Given the description of an element on the screen output the (x, y) to click on. 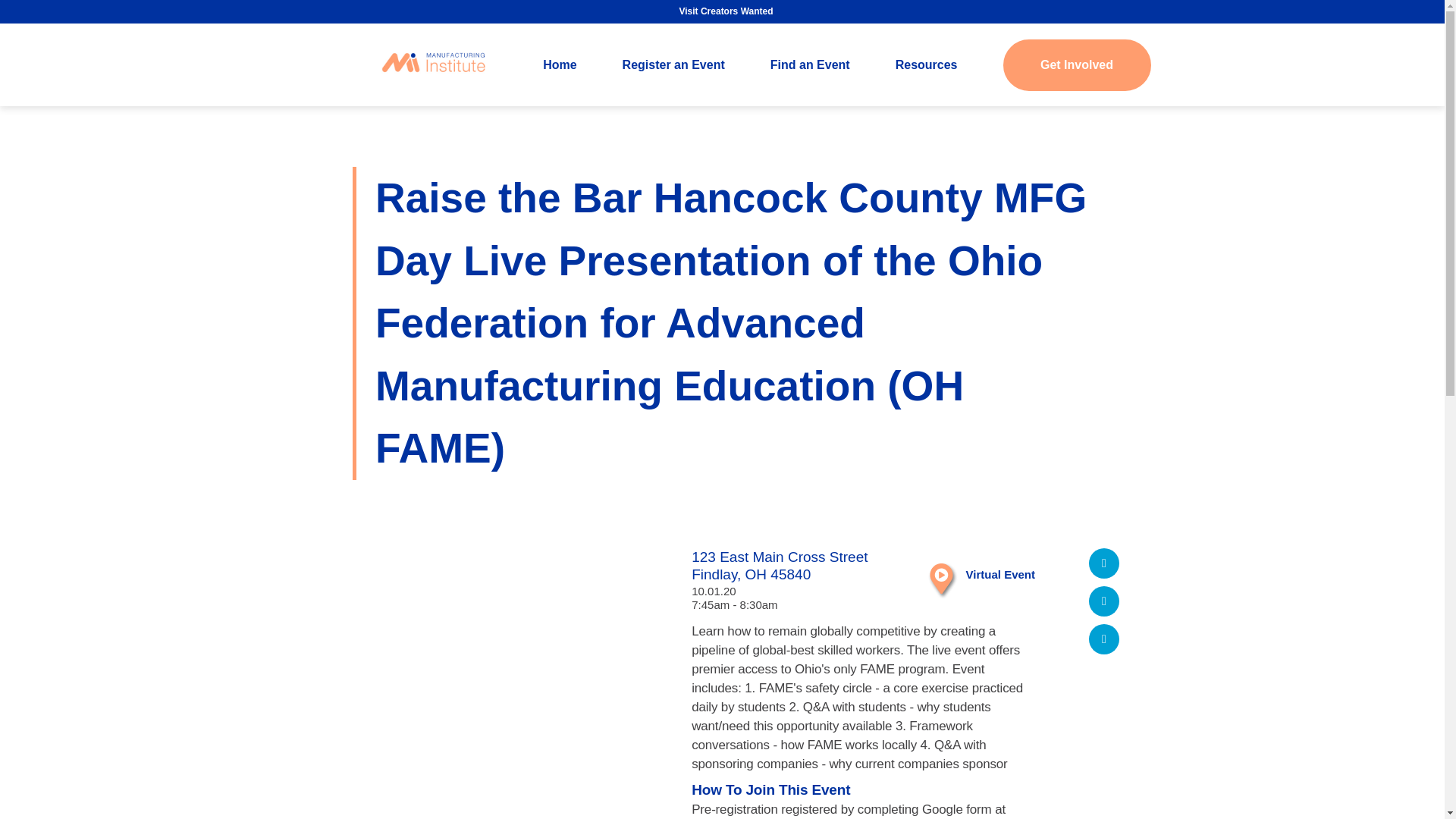
Home (559, 64)
Resources (926, 64)
Register an Event (674, 64)
Get Involved (1076, 64)
Find an Event (810, 64)
